Given the description of an element on the screen output the (x, y) to click on. 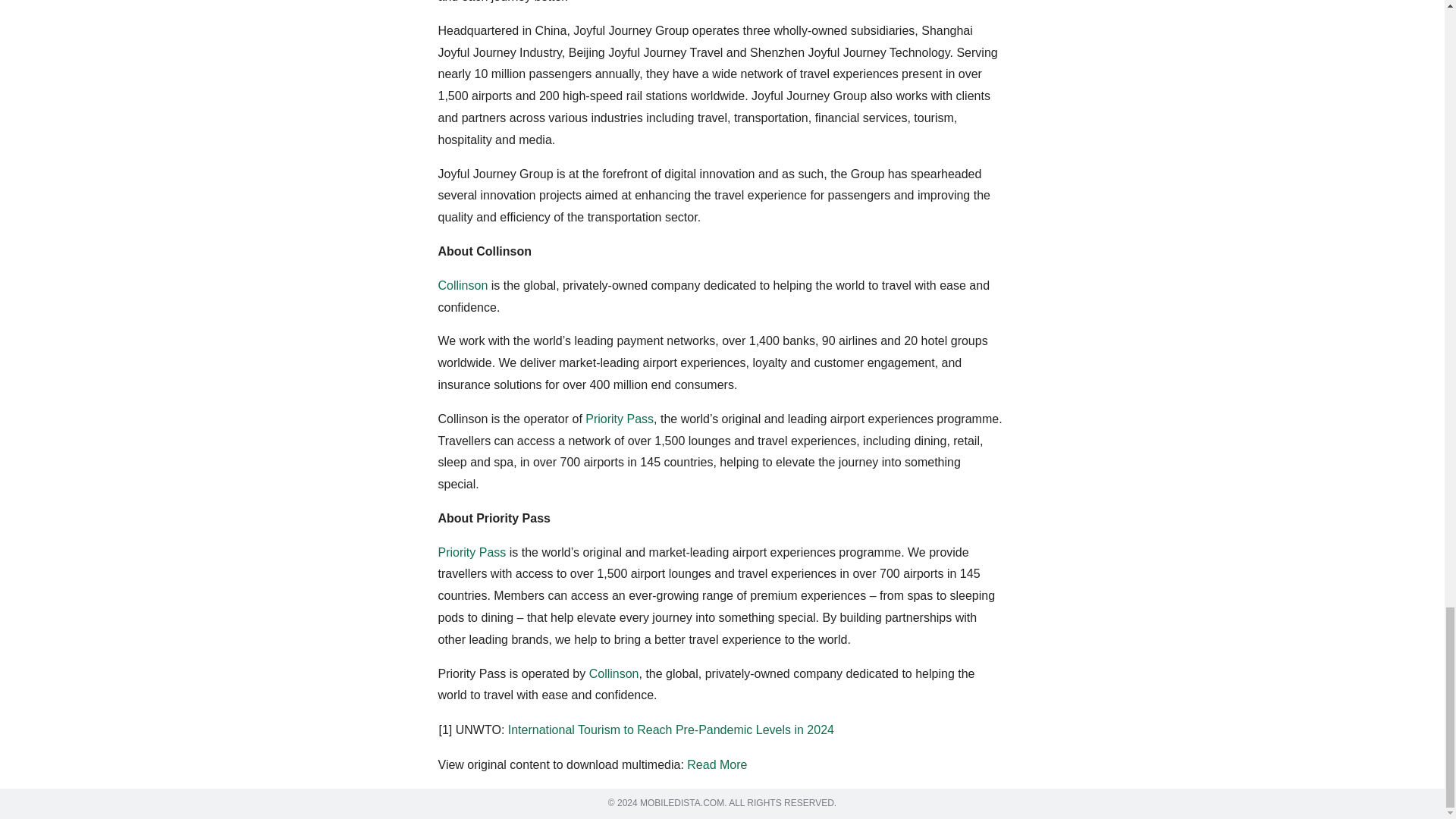
Priority Pass (619, 418)
Collinson (462, 285)
Priority Pass (472, 552)
Collinson (614, 673)
